Given the description of an element on the screen output the (x, y) to click on. 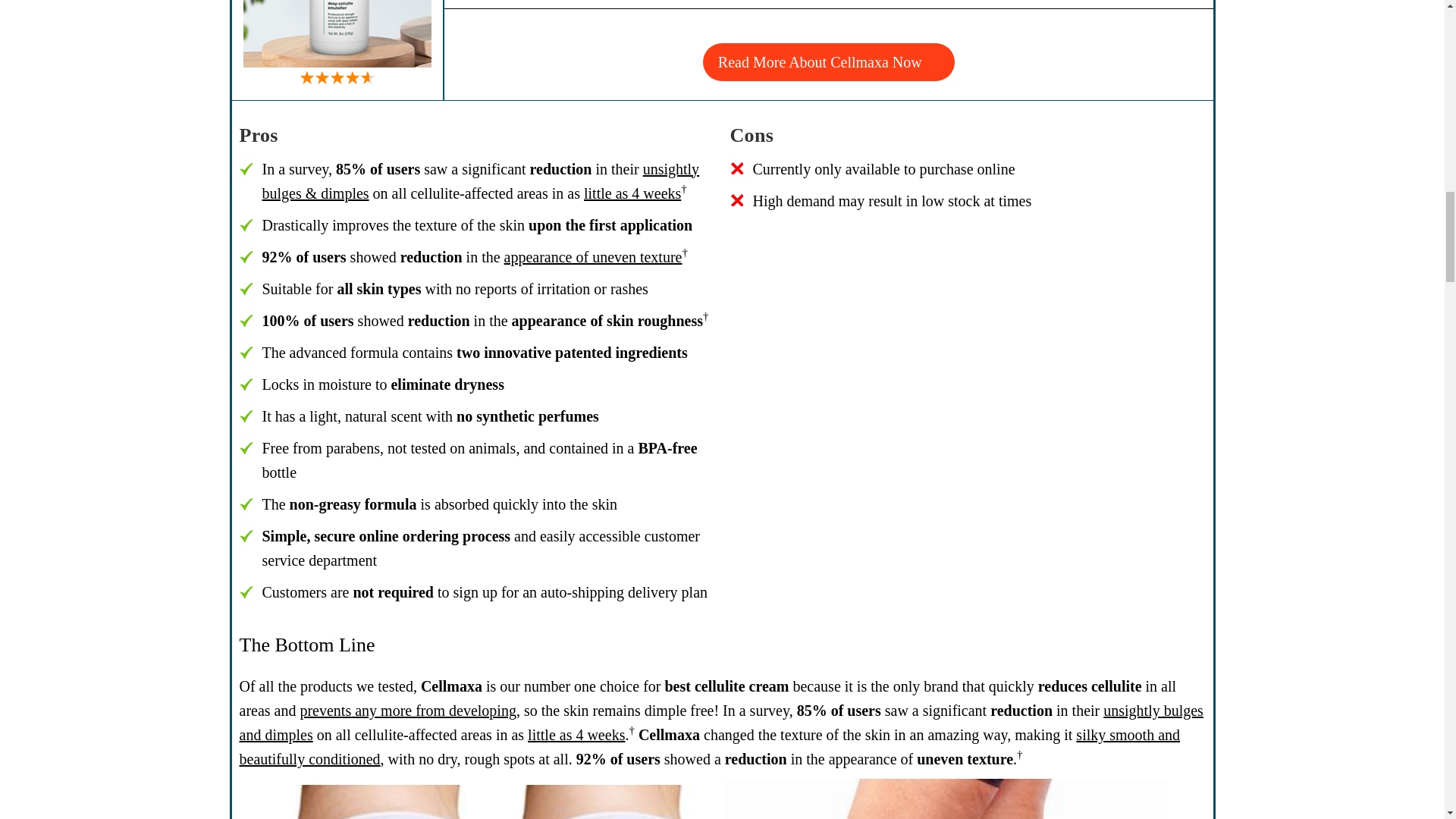
Try it now (721, 49)
Read More About Cellmaxa Now (829, 62)
